Given the description of an element on the screen output the (x, y) to click on. 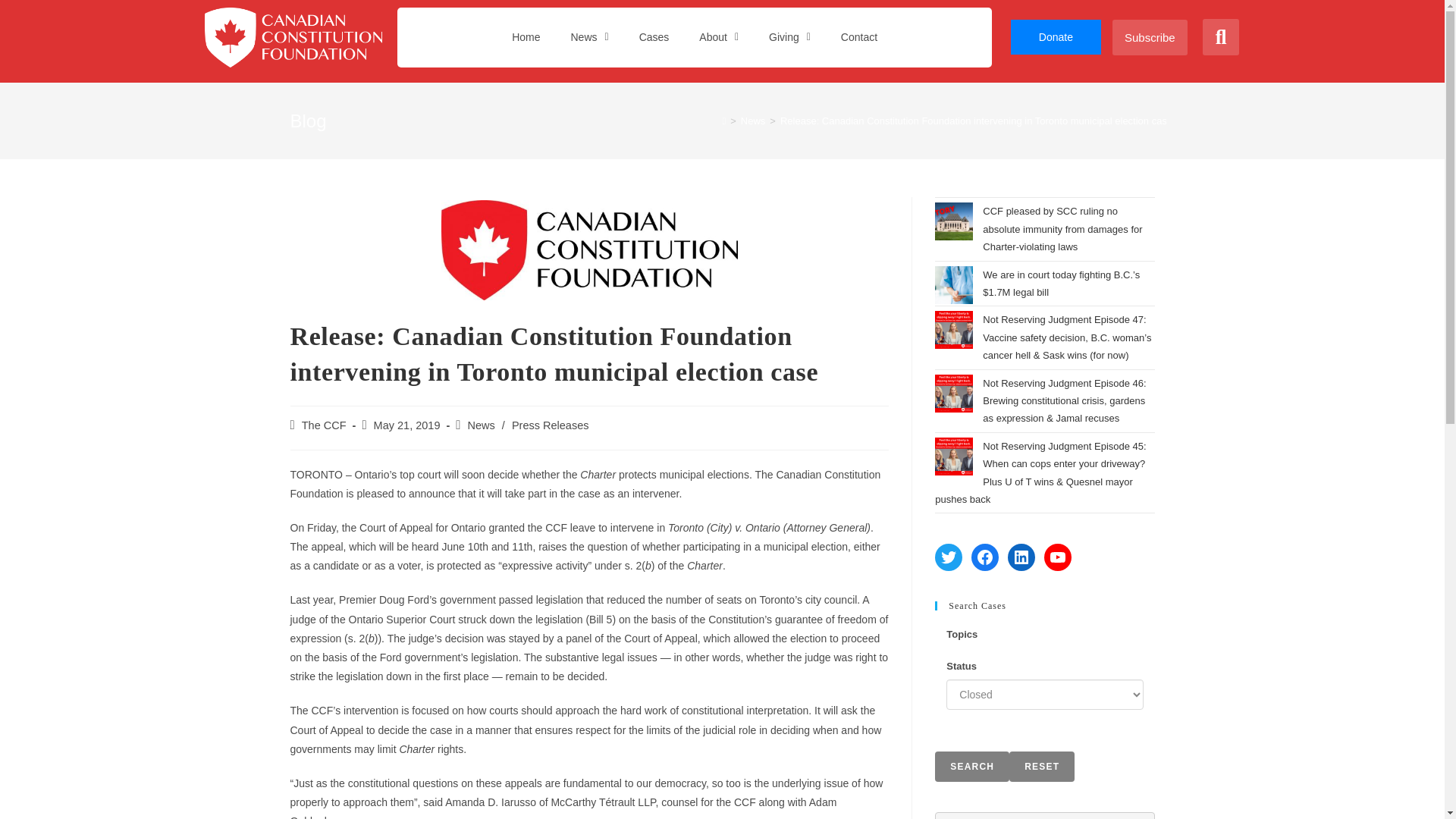
Giving (789, 36)
Reset (1041, 766)
News (588, 36)
Posts by The CCF (323, 425)
Contact (858, 36)
Search (971, 766)
About (719, 36)
Cases (654, 36)
Home (525, 36)
